Given the description of an element on the screen output the (x, y) to click on. 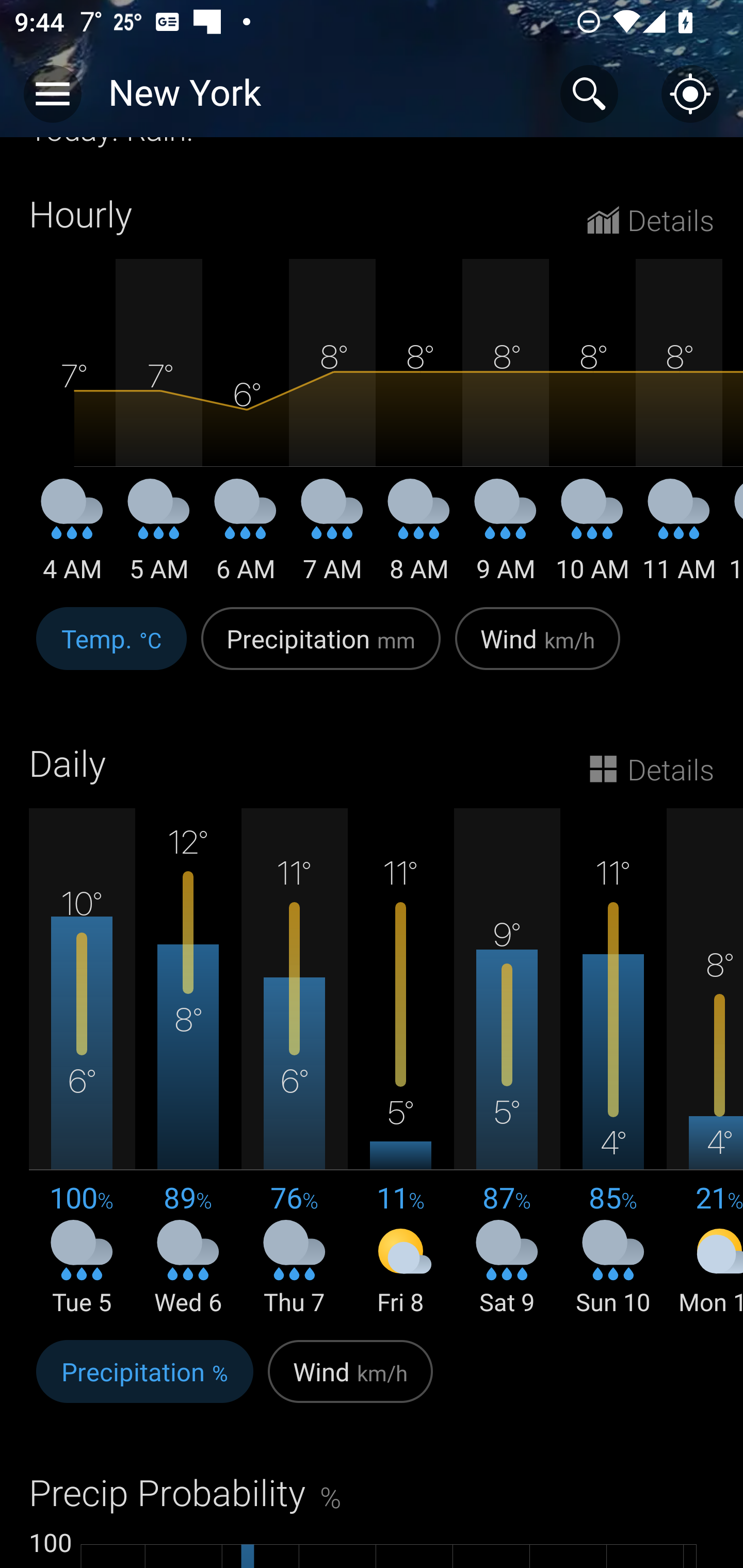
4 AM (71, 537)
5 AM (158, 537)
6 AM (245, 537)
7 AM (332, 537)
8 AM (418, 537)
9 AM (505, 537)
10 AM (592, 537)
11 AM (679, 537)
Temp. °C (110, 649)
Precipitation mm (320, 649)
Wind km/h (537, 649)
10° 6° 100 % Tue 5 (81, 1062)
12° 8° 89 % Wed 6 (188, 1062)
11° 6° 76 % Thu 7 (294, 1062)
11° 5° 11 % Fri 8 (400, 1062)
9° 5° 87 % Sat 9 (506, 1062)
11° 4° 85 % Sun 10 (613, 1062)
8° 4° 21 % Mon 11 (704, 1062)
Precipitation % (144, 1381)
Wind km/h (349, 1381)
